Given the description of an element on the screen output the (x, y) to click on. 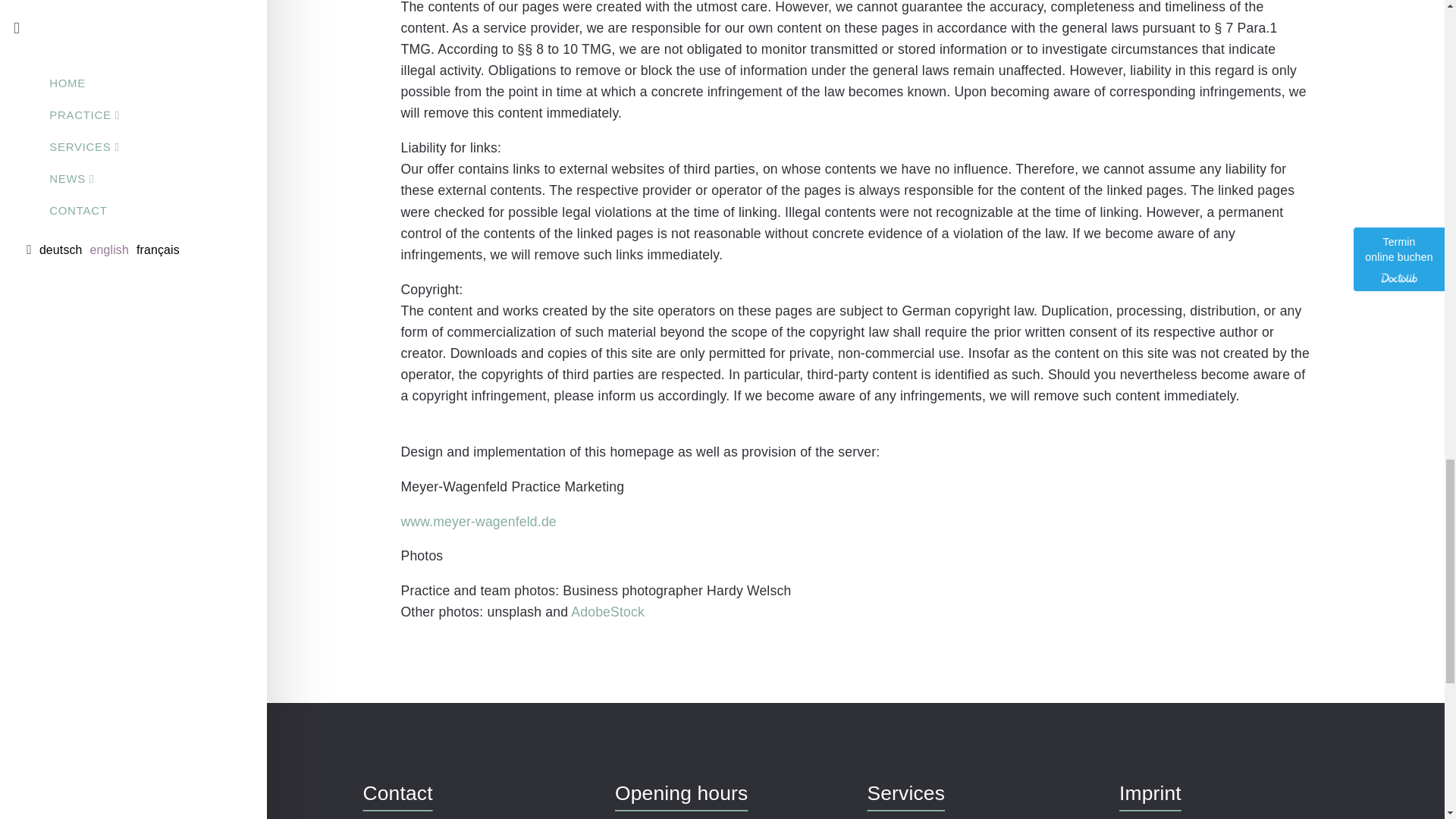
www.meyer-wagenfeld.de (478, 521)
AdobeStock (607, 611)
Opens external link in new window (607, 611)
